Given the description of an element on the screen output the (x, y) to click on. 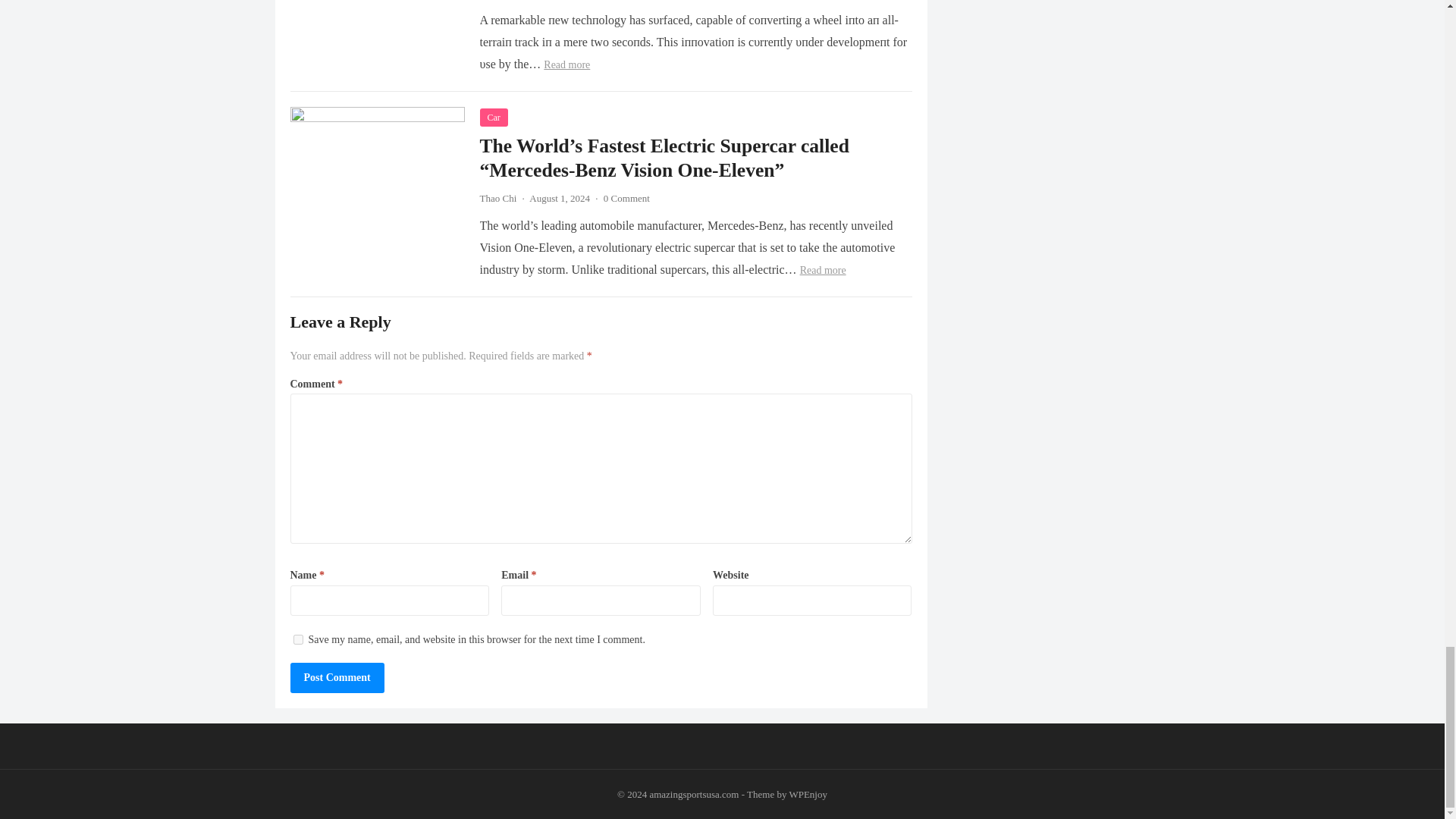
Post Comment (336, 677)
Posts by Thao Chi (497, 197)
yes (297, 639)
